Given the description of an element on the screen output the (x, y) to click on. 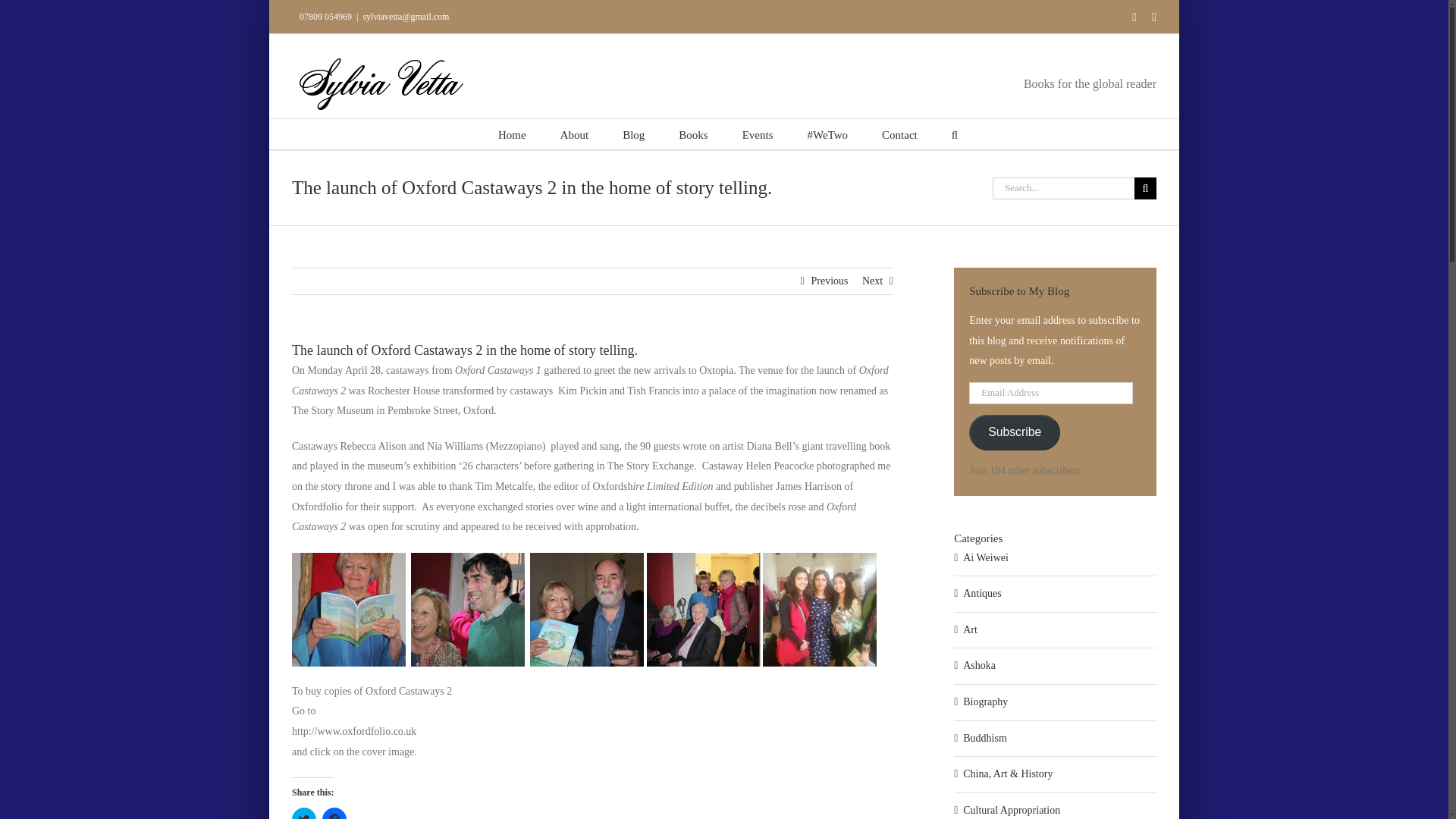
Click to share on Twitter (303, 813)
Events (757, 133)
Books (692, 133)
Home (511, 133)
Sylvia Vetta Books (692, 133)
Contact Sylvia Vetta (899, 133)
About Sylvia Vetta (574, 133)
Click to share on Facebook (333, 813)
Sylvia Vetta Home (511, 133)
About (574, 133)
Previous (828, 281)
Contact (899, 133)
